Given the description of an element on the screen output the (x, y) to click on. 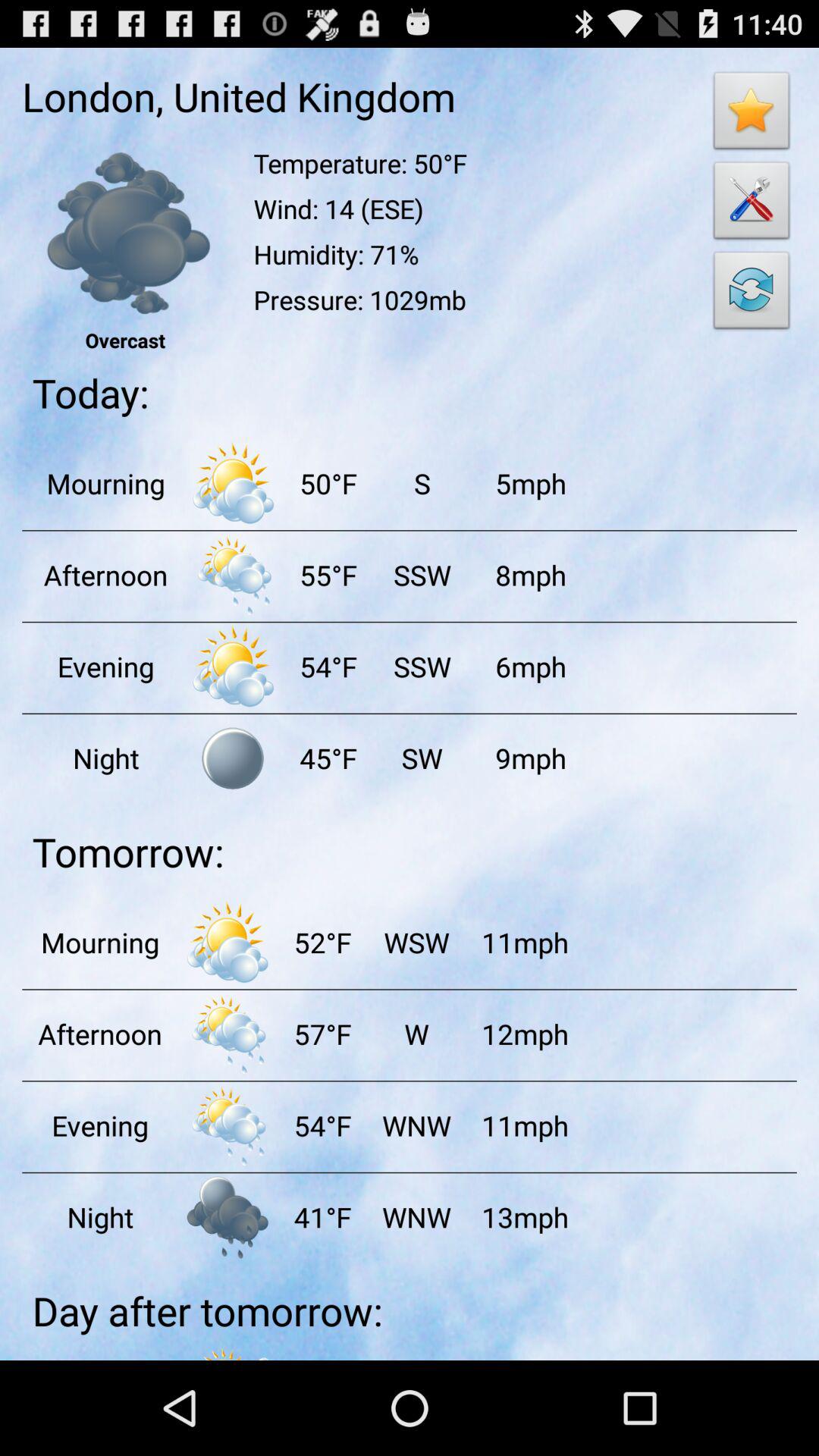
choose the item to the left of sw item (328, 757)
